Given the description of an element on the screen output the (x, y) to click on. 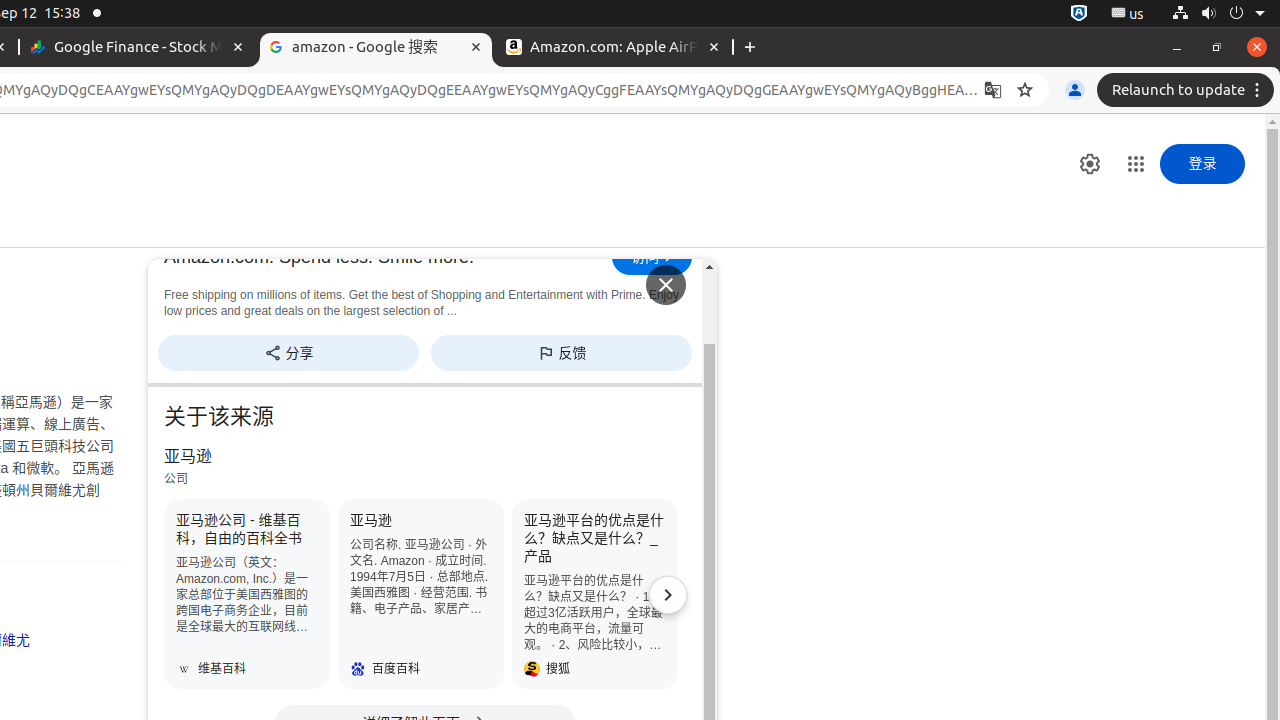
设置 Element type: push-button (1090, 164)
Amazon.com: Apple AirPods (3rd Generation) Wireless Ear Buds, Bluetooth Headphones, Personalized Spatial Audio, Sweat and Water Resistant, Lightning Charging Case Included, Up to 30 Hours of Battery Life : Electronics - Memory usage - 103 MB Element type: page-tab (614, 47)
登录 Element type: link (1202, 164)
:1.21/StatusNotifierItem Element type: menu (1127, 13)
Amazon.com. Spend less. Smile more. Element type: link (383, 257)
